Given the description of an element on the screen output the (x, y) to click on. 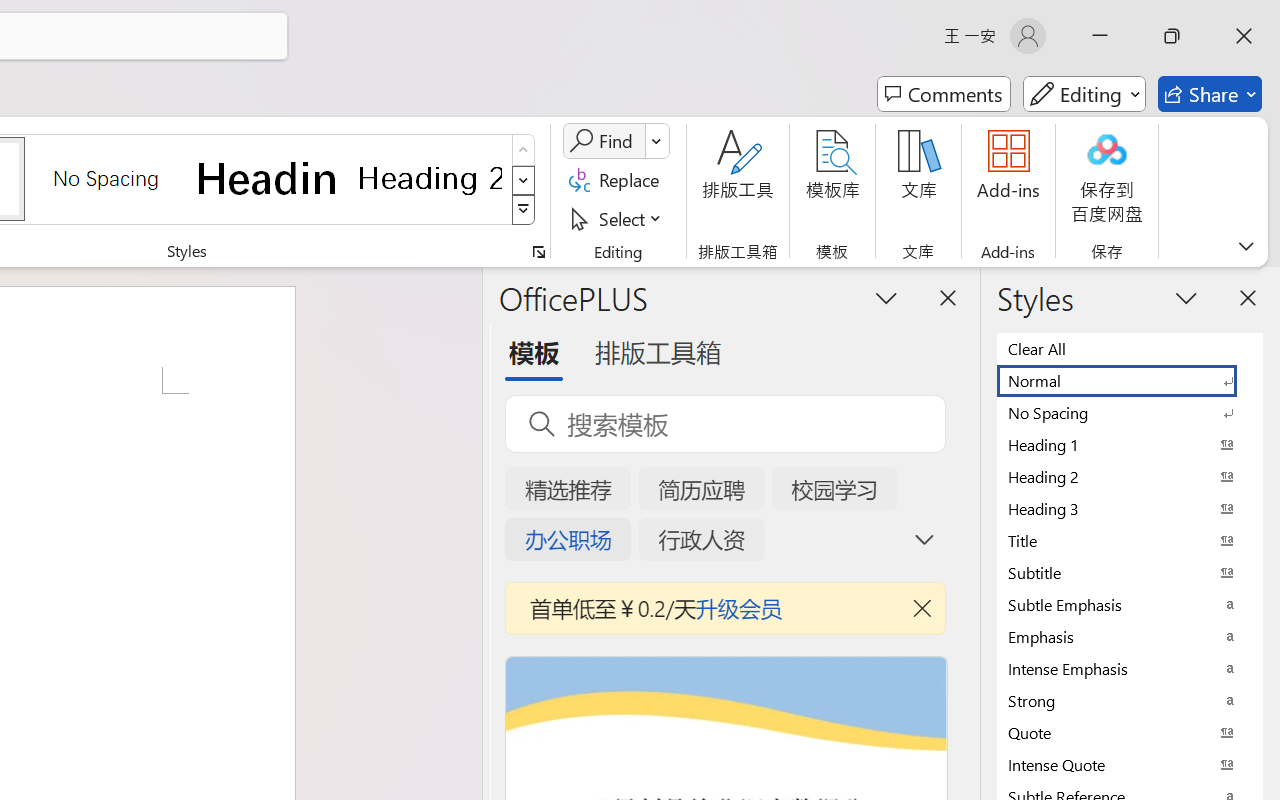
Share (1210, 94)
Minimize (1099, 36)
More Options (657, 141)
Mode (1083, 94)
Styles (523, 209)
Ribbon Display Options (1246, 245)
Emphasis (1130, 636)
Class: NetUIImage (523, 210)
Heading 1 (267, 178)
Select (618, 218)
Restore Down (1172, 36)
